Given the description of an element on the screen output the (x, y) to click on. 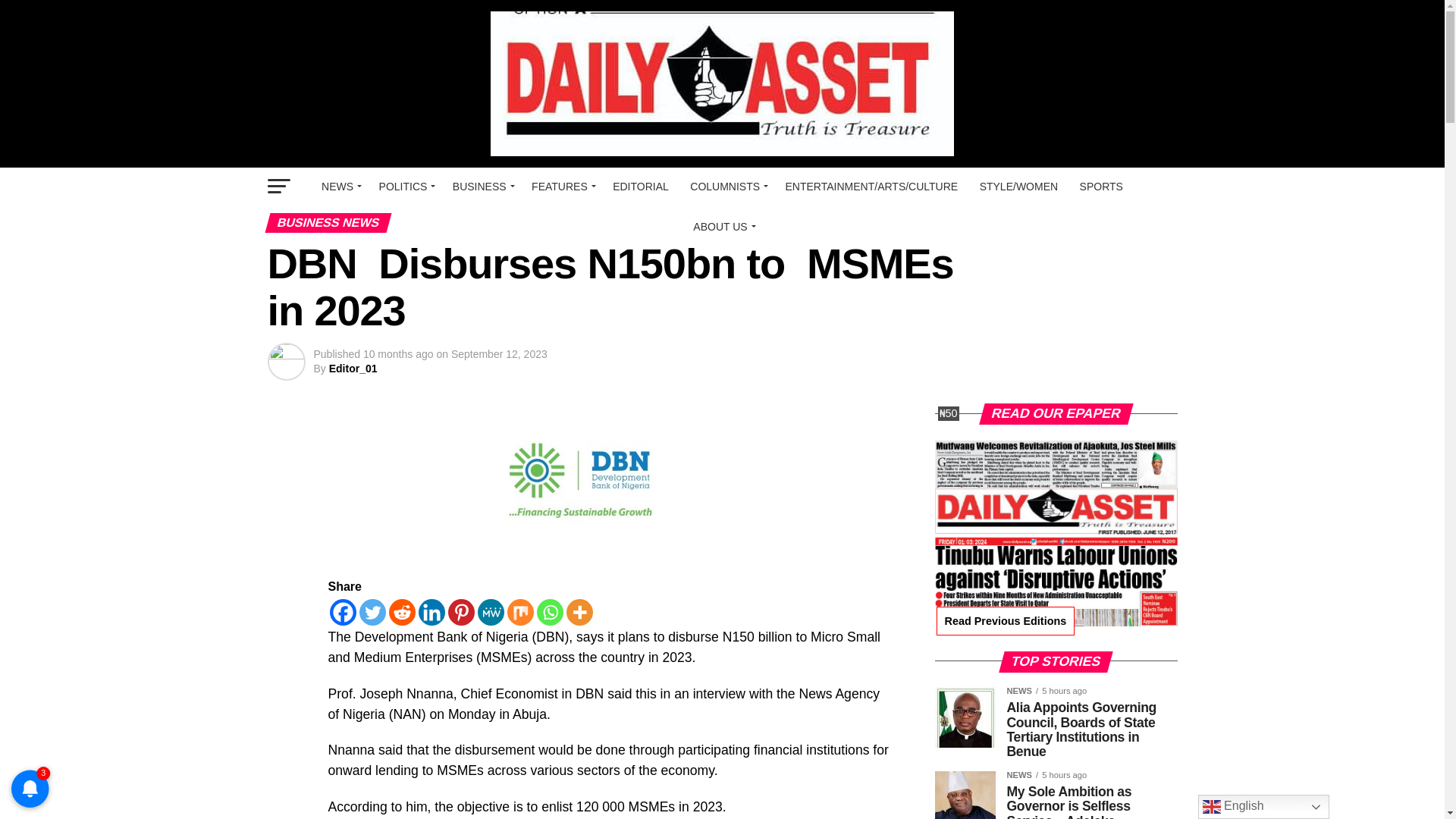
Twitter (372, 611)
Facebook (342, 611)
